Given the description of an element on the screen output the (x, y) to click on. 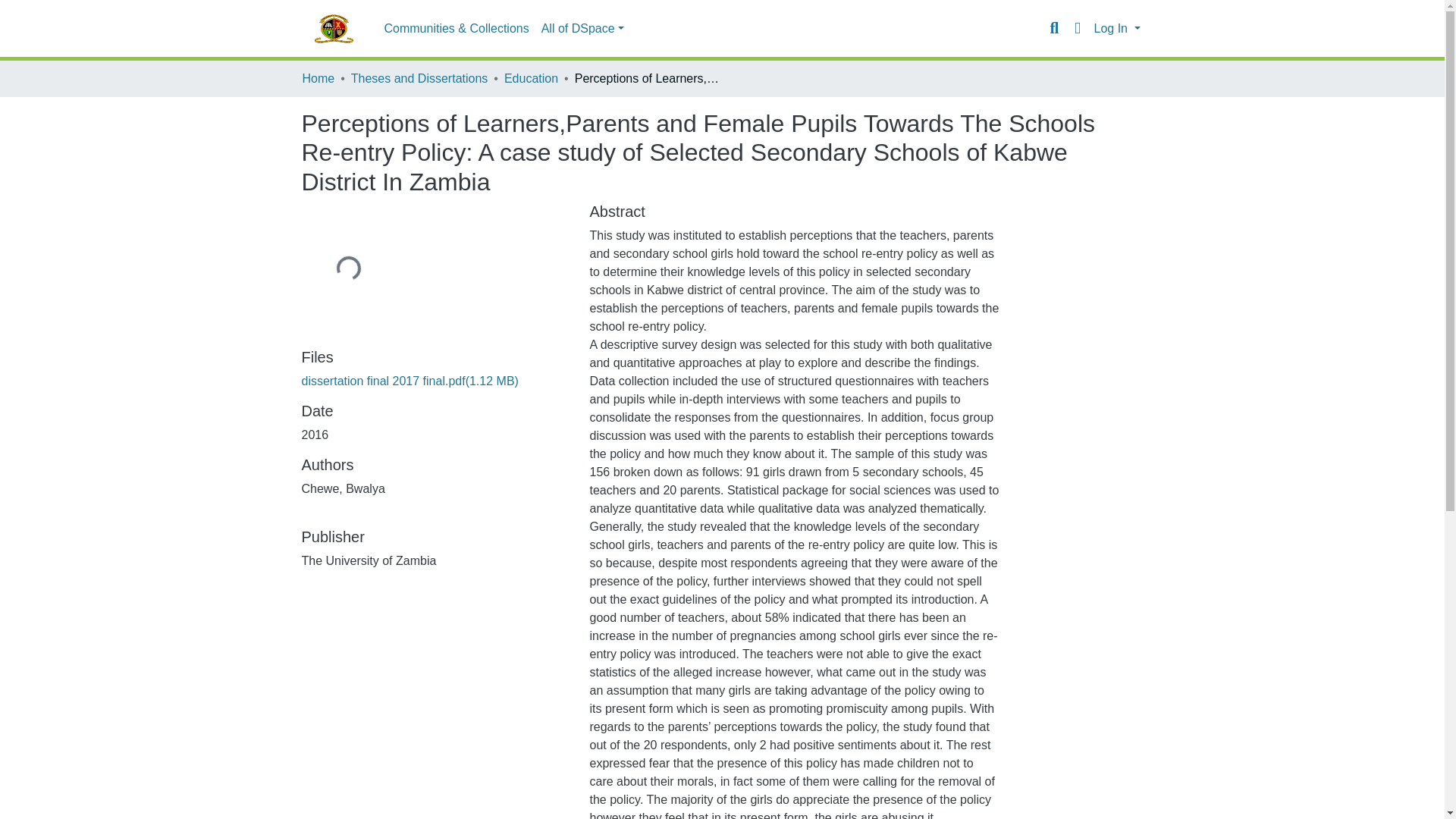
Search (1053, 28)
Language switch (1077, 28)
Theses and Dissertations (418, 78)
Log In (1116, 28)
All of DSpace (582, 28)
Home (317, 78)
Education (530, 78)
